Given the description of an element on the screen output the (x, y) to click on. 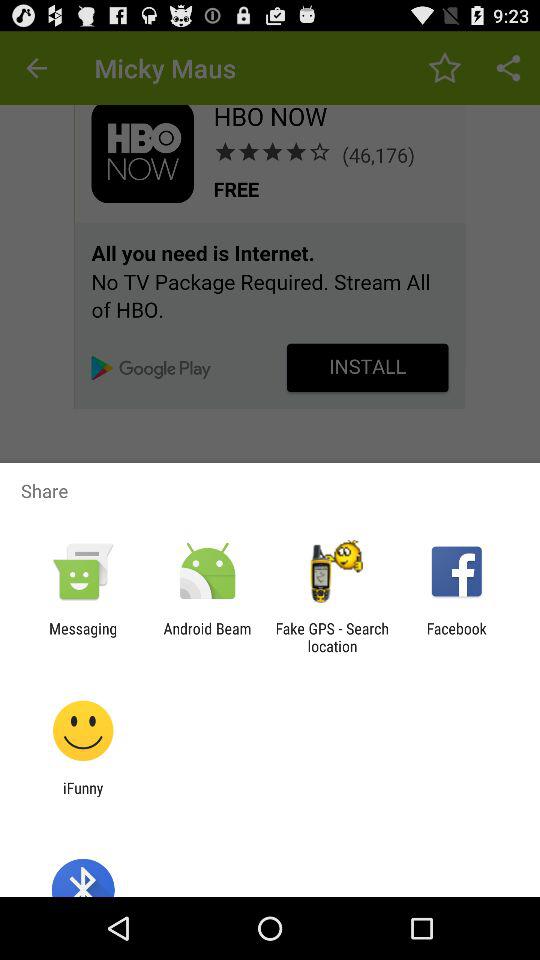
launch the app to the right of the messaging (207, 637)
